Given the description of an element on the screen output the (x, y) to click on. 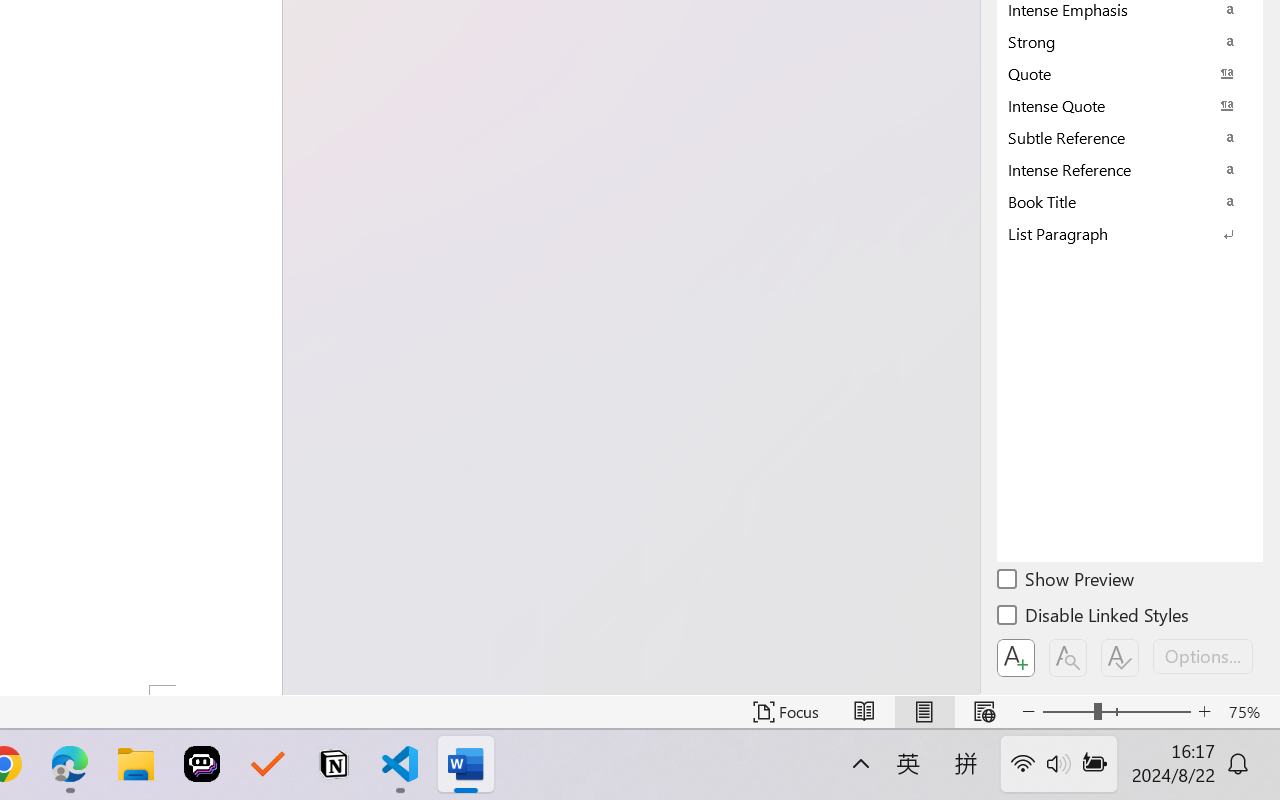
Strong (1130, 41)
